Given the description of an element on the screen output the (x, y) to click on. 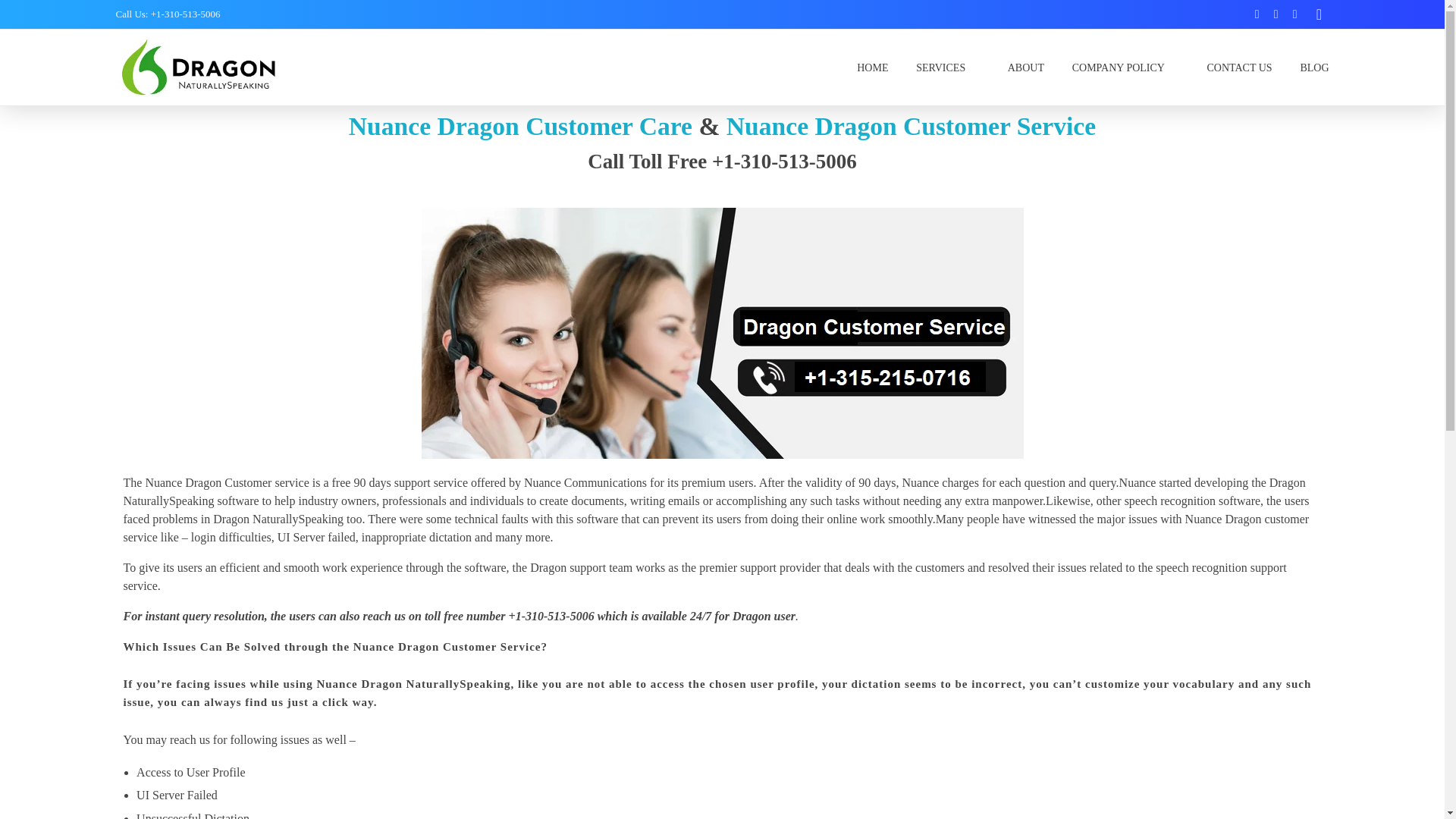
CONTACT US (1238, 67)
Nuance Dragon Customer Service (911, 126)
SERVICES (948, 67)
Nuance Dragon Customer Care (521, 126)
COMPANY POLICY (1125, 67)
